Given the description of an element on the screen output the (x, y) to click on. 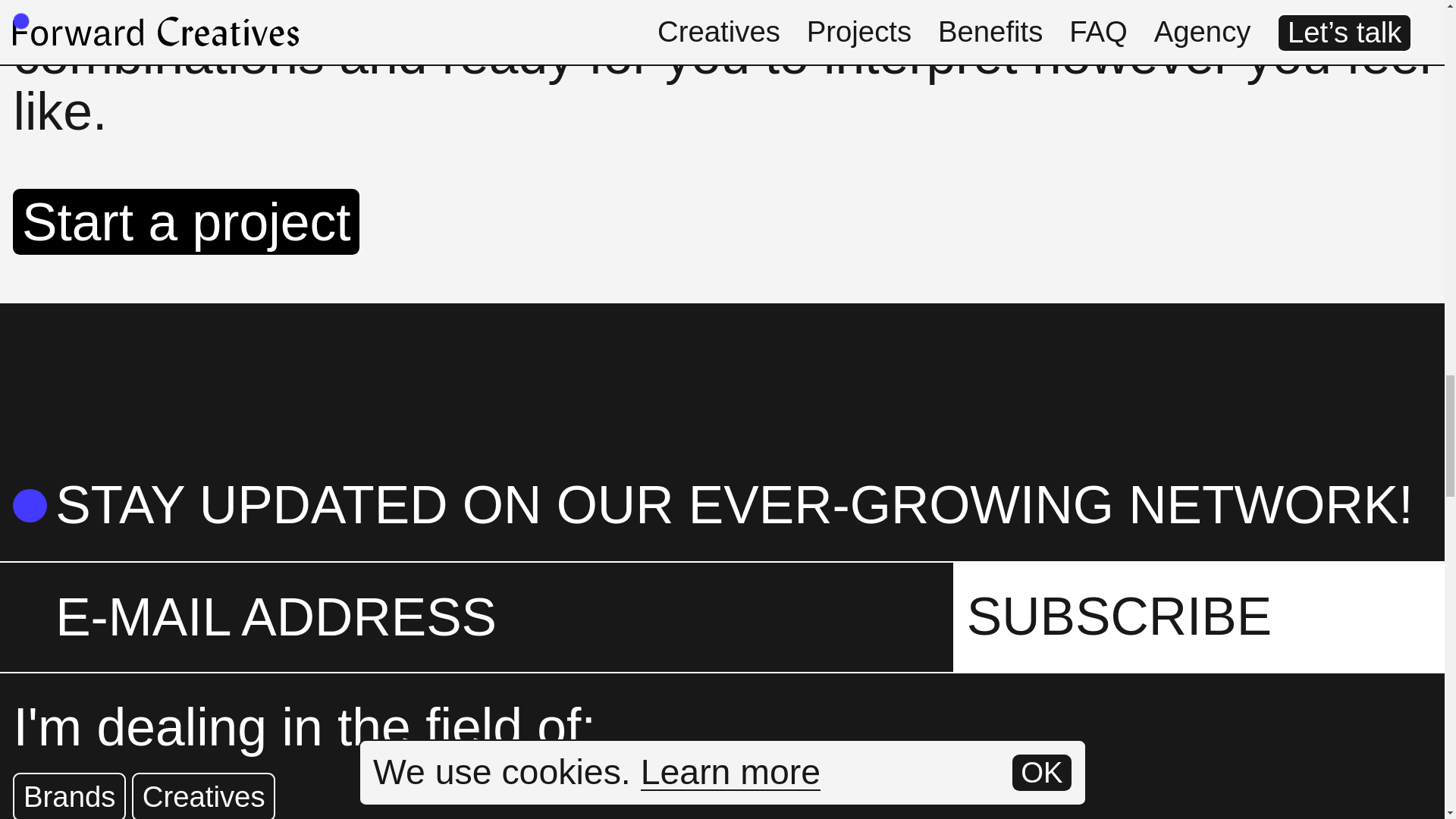
Start a project (186, 221)
